Given the description of an element on the screen output the (x, y) to click on. 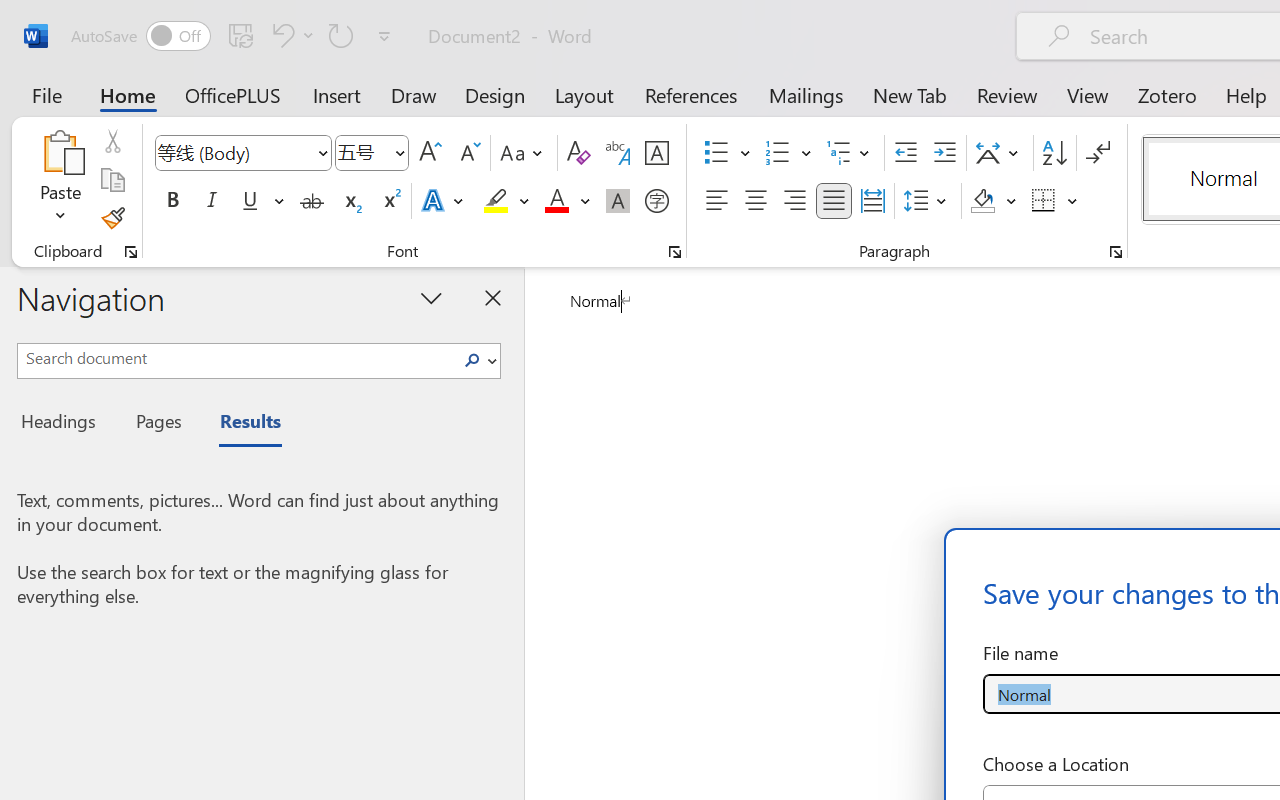
Justify (834, 201)
Search (471, 360)
Paragraph... (1115, 252)
Line and Paragraph Spacing (927, 201)
Review (1007, 94)
Show/Hide Editing Marks (1098, 153)
Shading RGB(0, 0, 0) (982, 201)
Class: NetUIImage (471, 360)
Decrease Indent (906, 153)
References (690, 94)
Font... (675, 252)
OfficePLUS (233, 94)
